Given the description of an element on the screen output the (x, y) to click on. 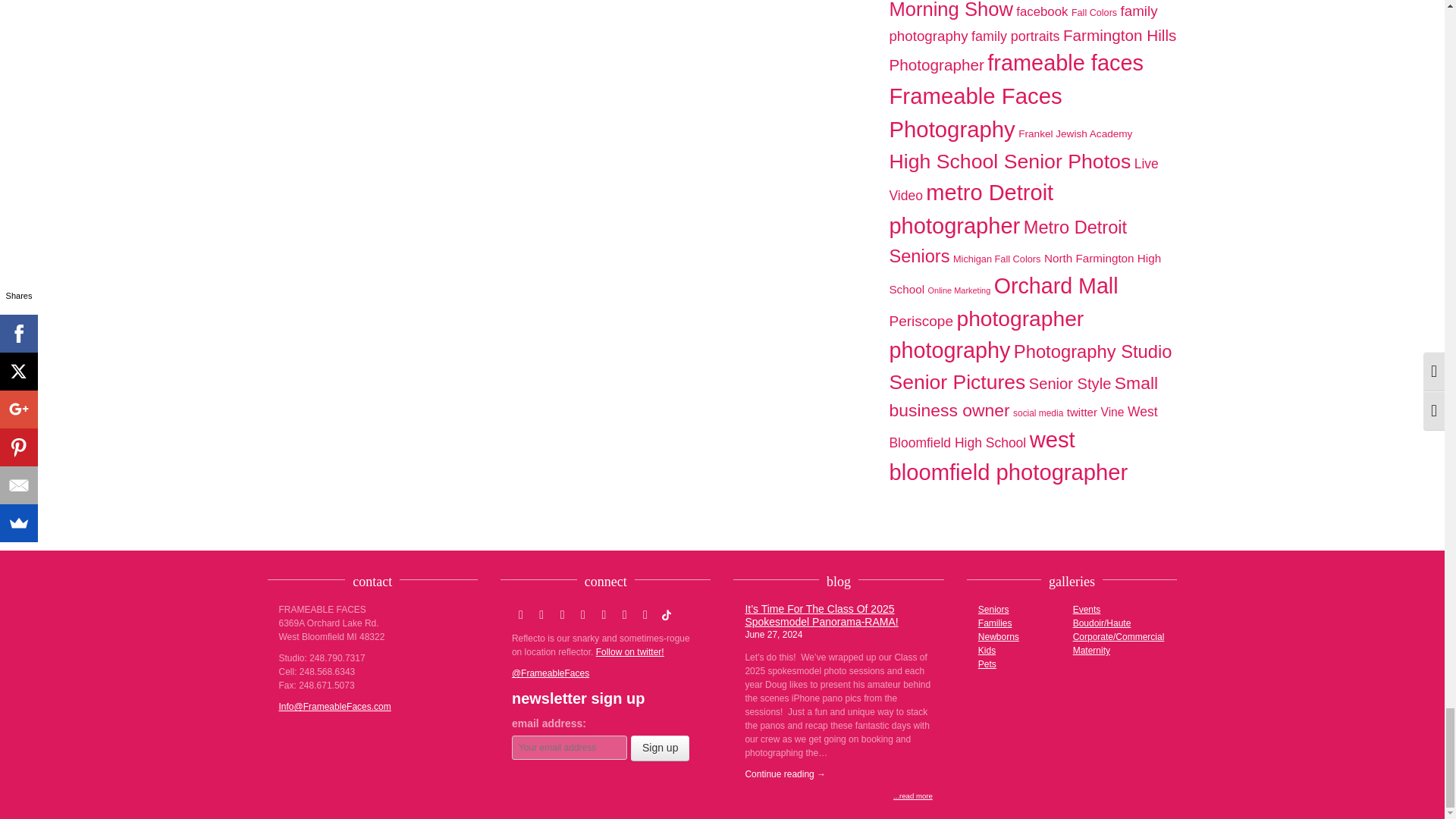
Sign up (659, 748)
